Given the description of an element on the screen output the (x, y) to click on. 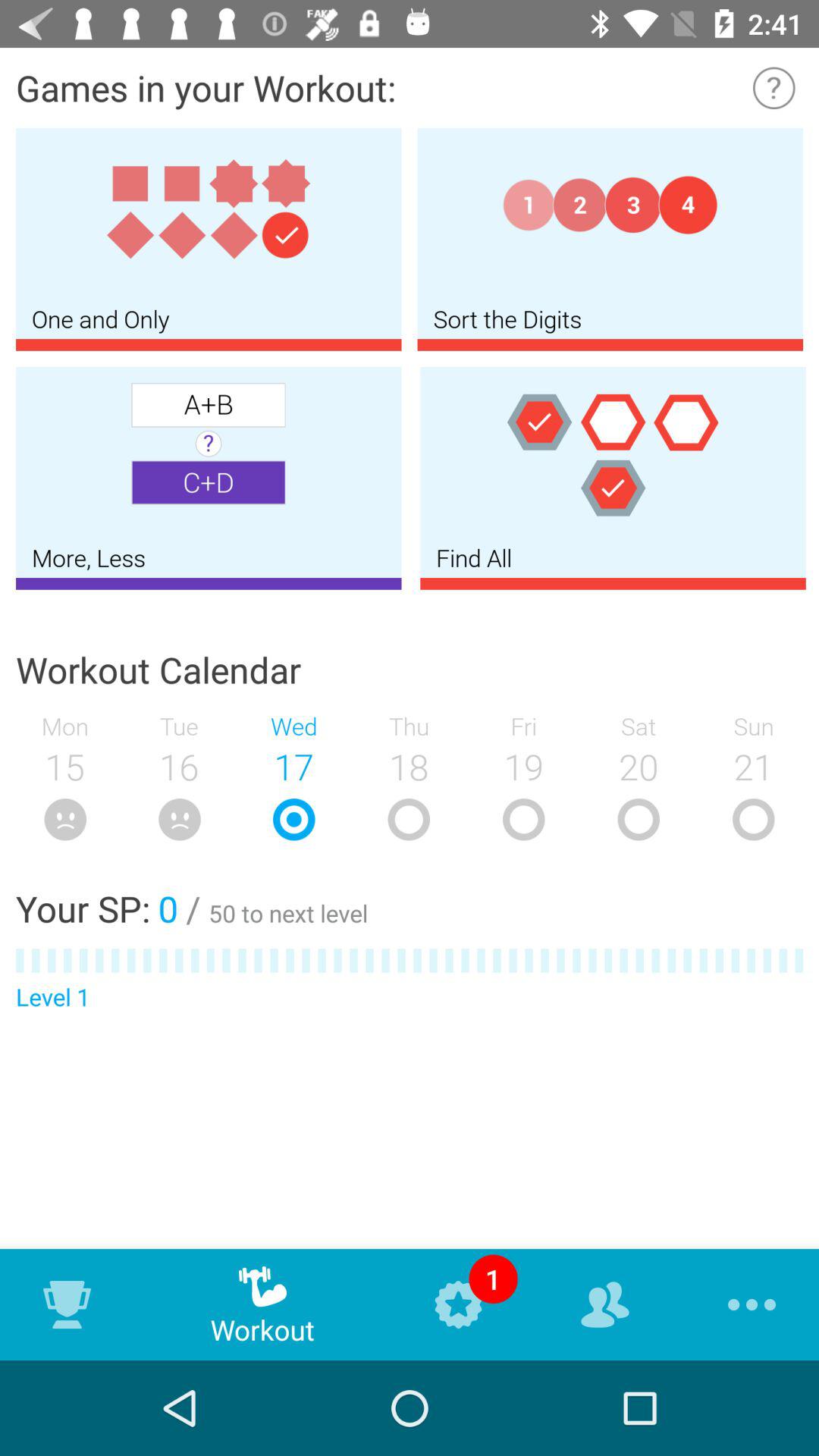
instruction about details needed (774, 87)
